Given the description of an element on the screen output the (x, y) to click on. 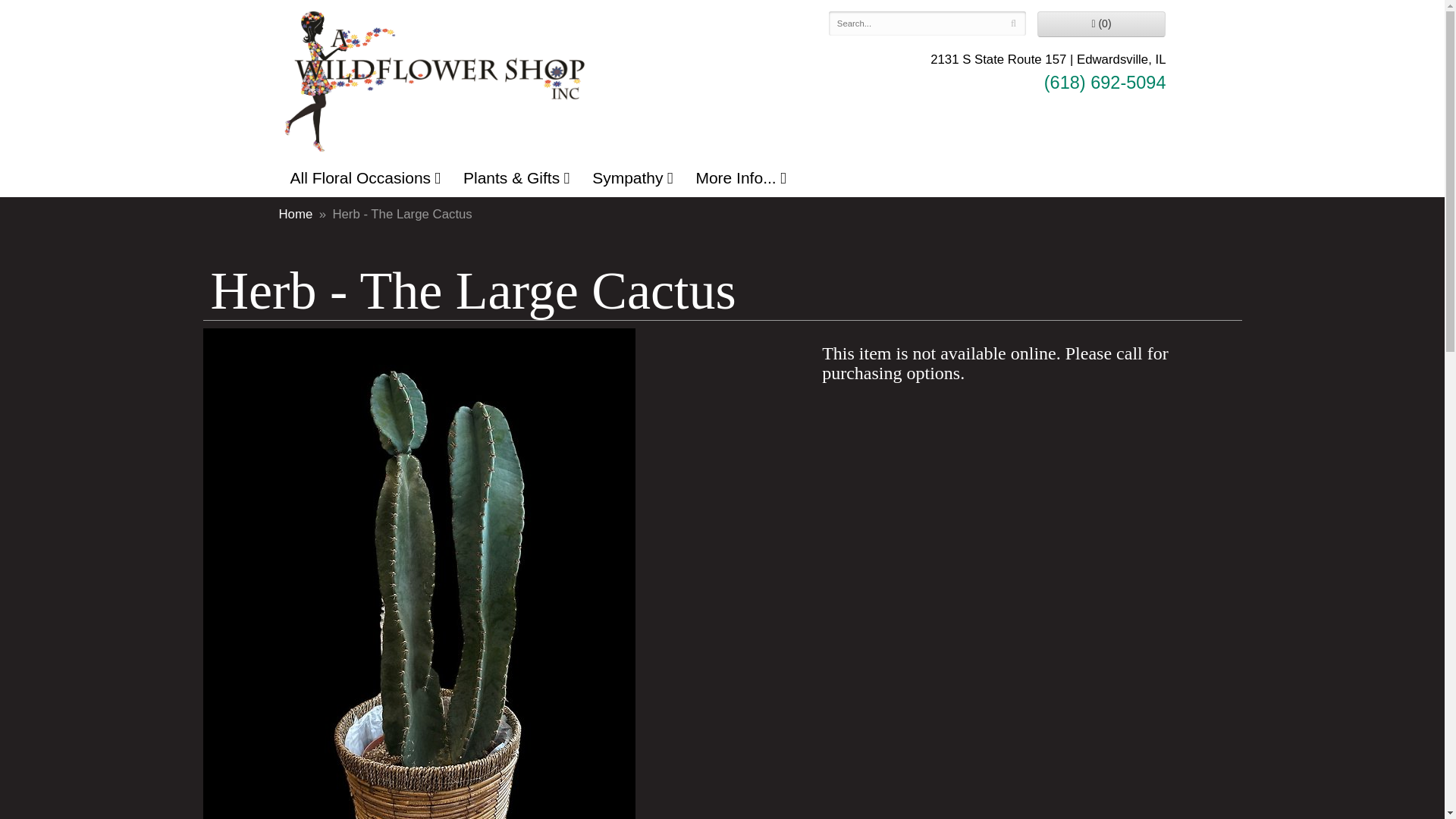
More Info... (740, 177)
All Floral Occasions (365, 177)
Home (296, 214)
Sympathy (632, 177)
A Wildflower Shop (434, 79)
